Given the description of an element on the screen output the (x, y) to click on. 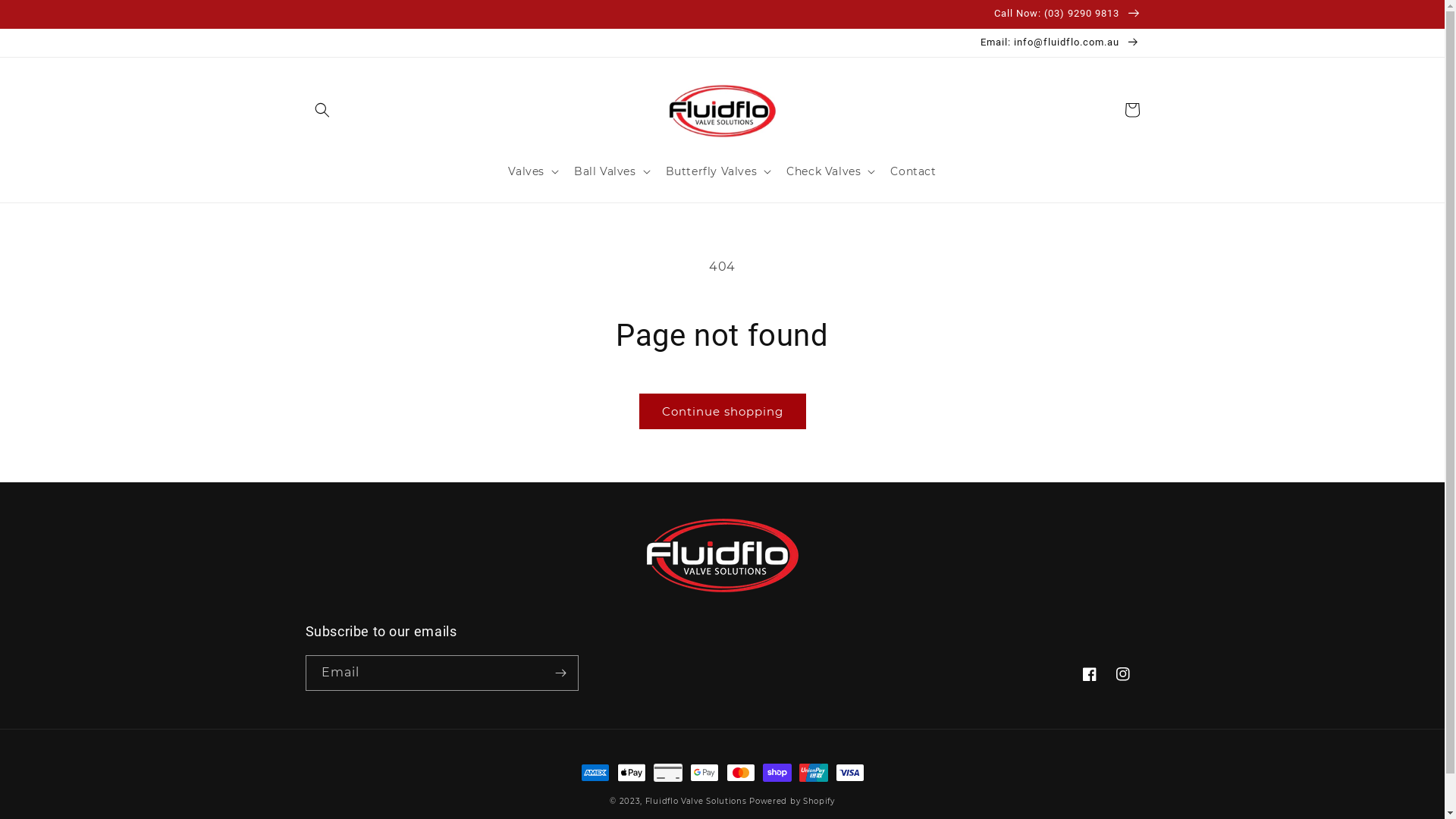
Fluidflo Valve Solutions Element type: text (695, 801)
Call Now: (03) 9290 9813 Element type: text (722, 14)
Contact Element type: text (912, 171)
Facebook Element type: text (1088, 673)
Email: info@fluidflo.com.au Element type: text (722, 42)
Continue shopping Element type: text (721, 411)
Instagram Element type: text (1122, 673)
Powered by Shopify Element type: text (791, 801)
Cart Element type: text (1131, 109)
